Given the description of an element on the screen output the (x, y) to click on. 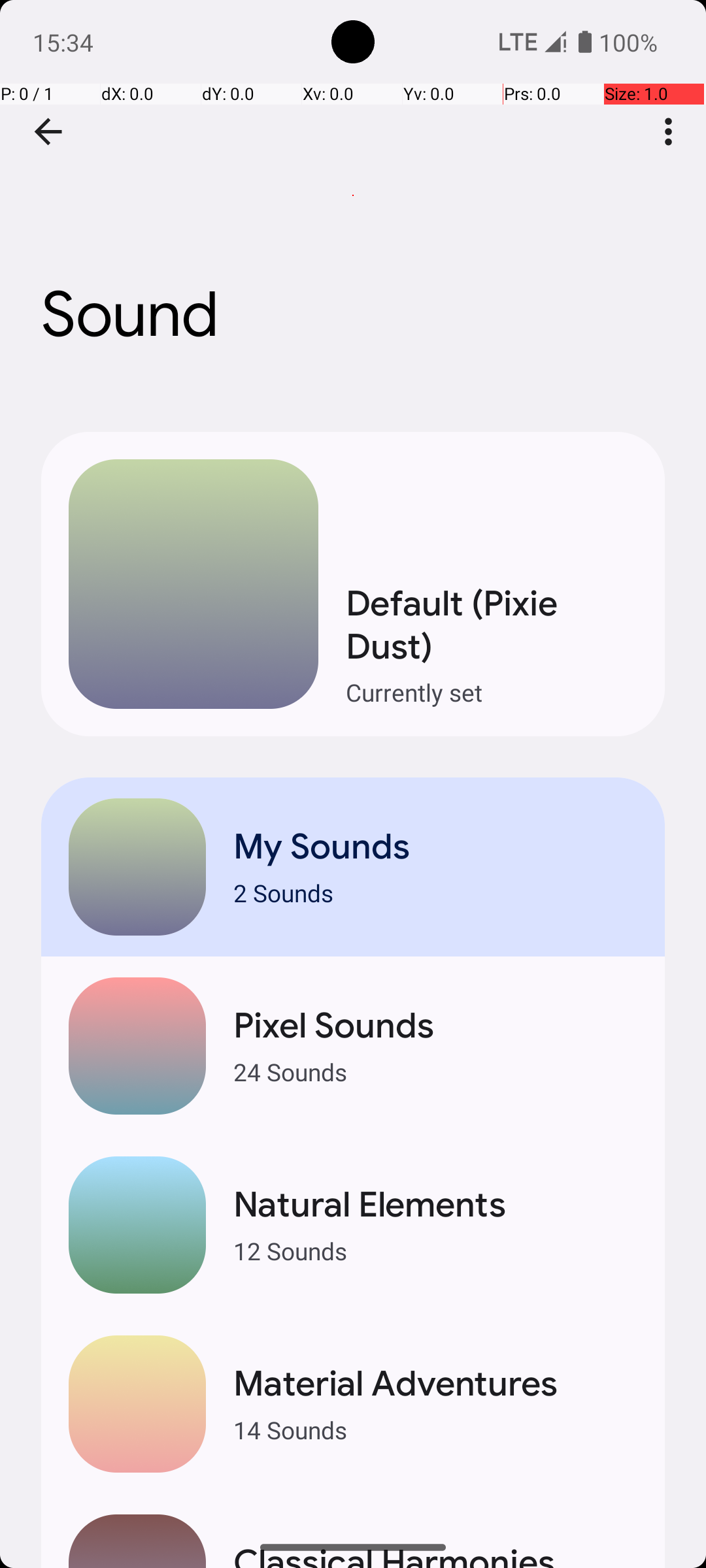
Default (Pixie Dust) Element type: android.widget.TextView (491, 625)
Currently set Element type: android.widget.TextView (491, 691)
My Sounds Element type: android.widget.TextView (435, 846)
2 Sounds Element type: android.widget.TextView (435, 892)
24 Sounds Element type: android.widget.TextView (435, 1071)
Natural Elements Element type: android.widget.TextView (435, 1204)
Material Adventures Element type: android.widget.TextView (435, 1383)
14 Sounds Element type: android.widget.TextView (435, 1429)
